Given the description of an element on the screen output the (x, y) to click on. 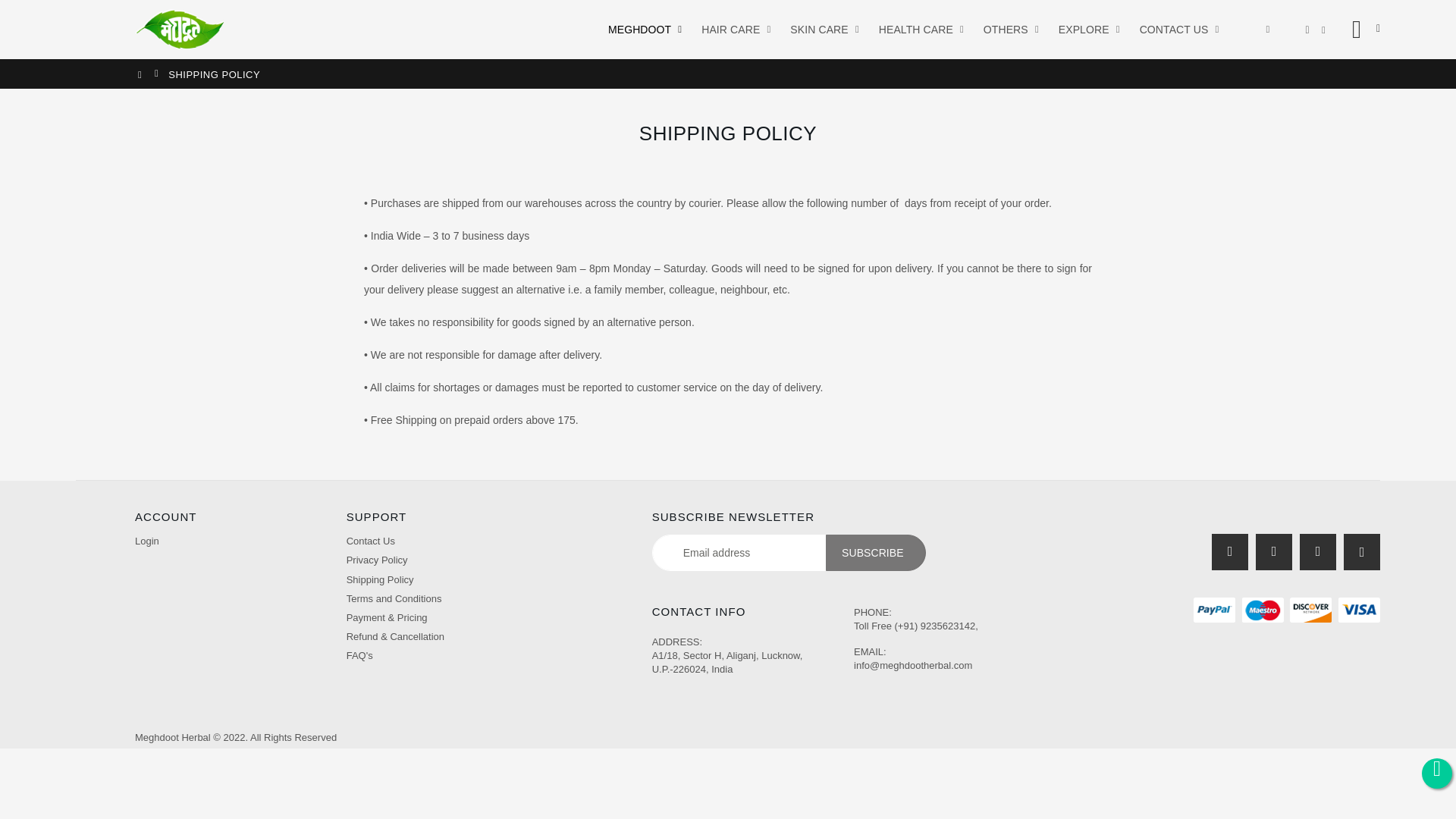
CONTACT US (1177, 29)
Subscribe (875, 552)
MEGHDOOT (642, 29)
EXPLORE (1086, 29)
OTHERS (1009, 29)
SKIN CARE (822, 29)
HAIR CARE (733, 29)
HEALTH CARE (919, 29)
